Given the description of an element on the screen output the (x, y) to click on. 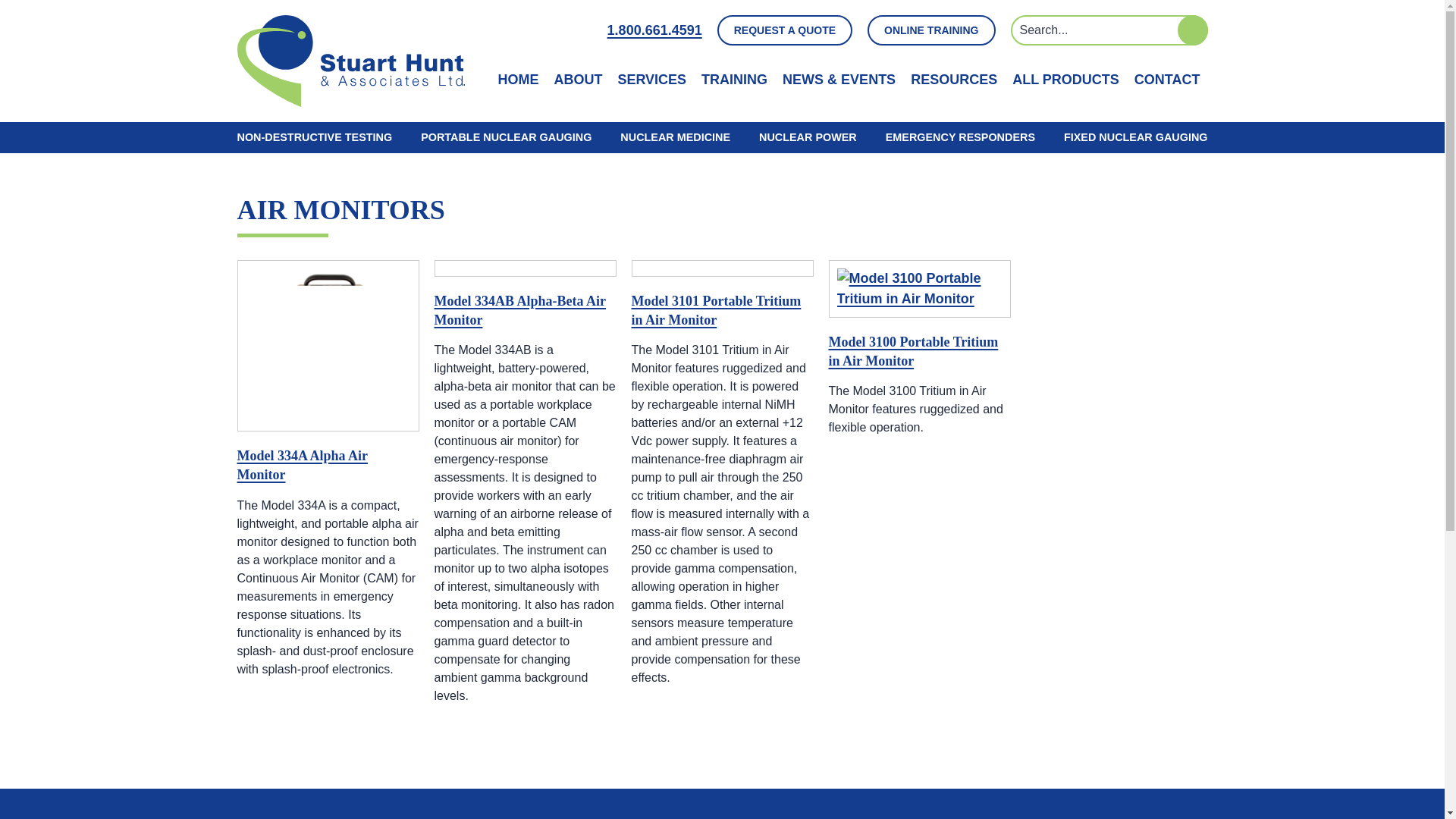
SERVICES (651, 79)
ONLINE TRAINING (930, 30)
1.800.661.4591 (654, 29)
HOME (517, 79)
ALL PRODUCTS (1065, 79)
TRAINING (734, 79)
ABOUT (577, 79)
website search (1108, 30)
CONTACT (1166, 79)
REQUEST A QUOTE (784, 30)
RESOURCES (954, 79)
